Given the description of an element on the screen output the (x, y) to click on. 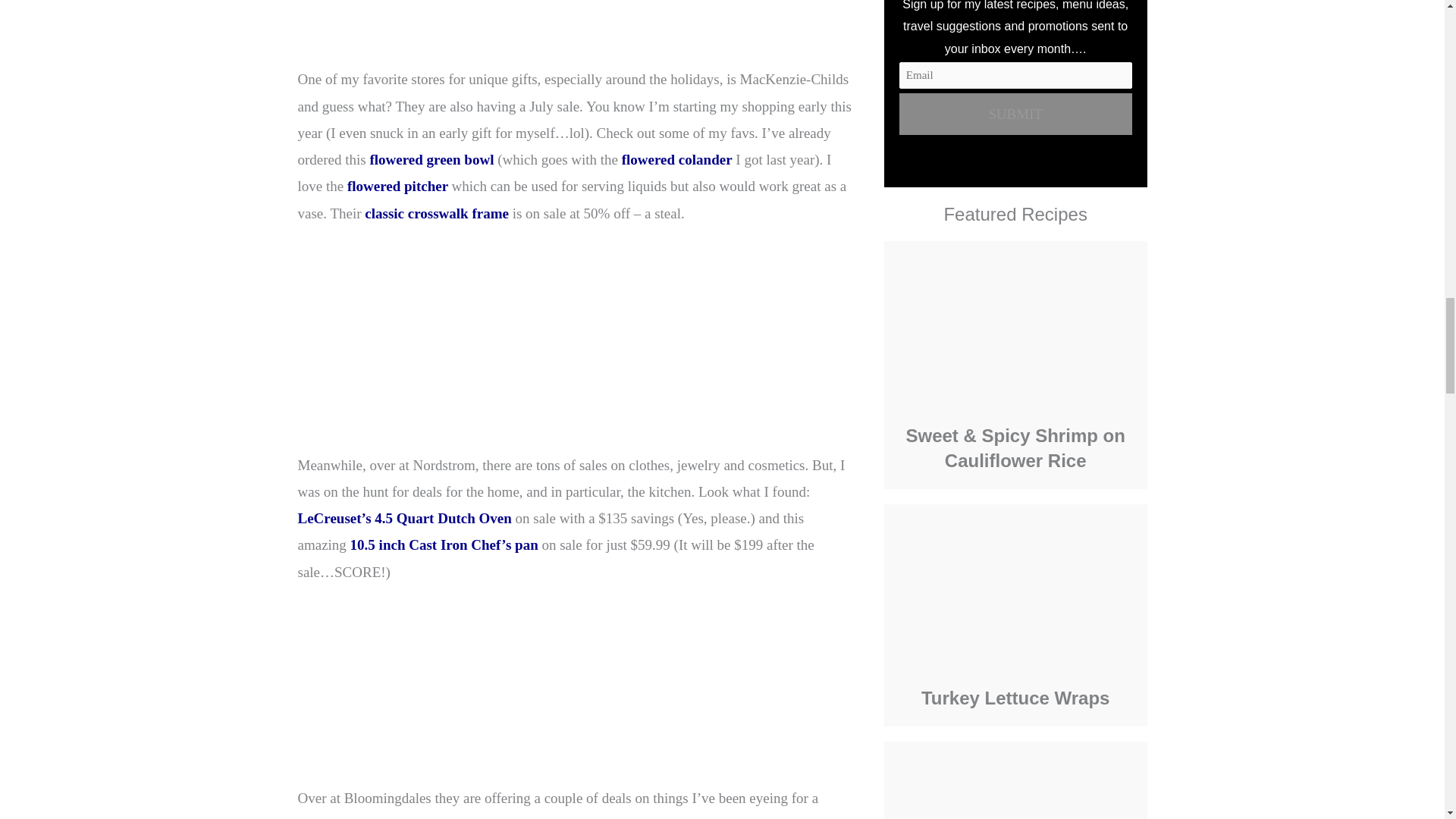
Submit (1015, 114)
